Given the description of an element on the screen output the (x, y) to click on. 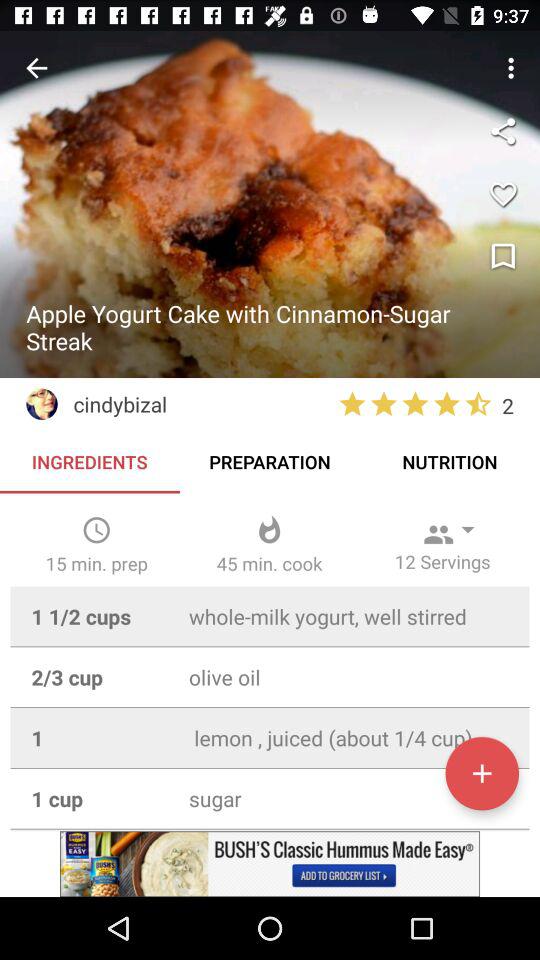
make favorite (503, 194)
